Given the description of an element on the screen output the (x, y) to click on. 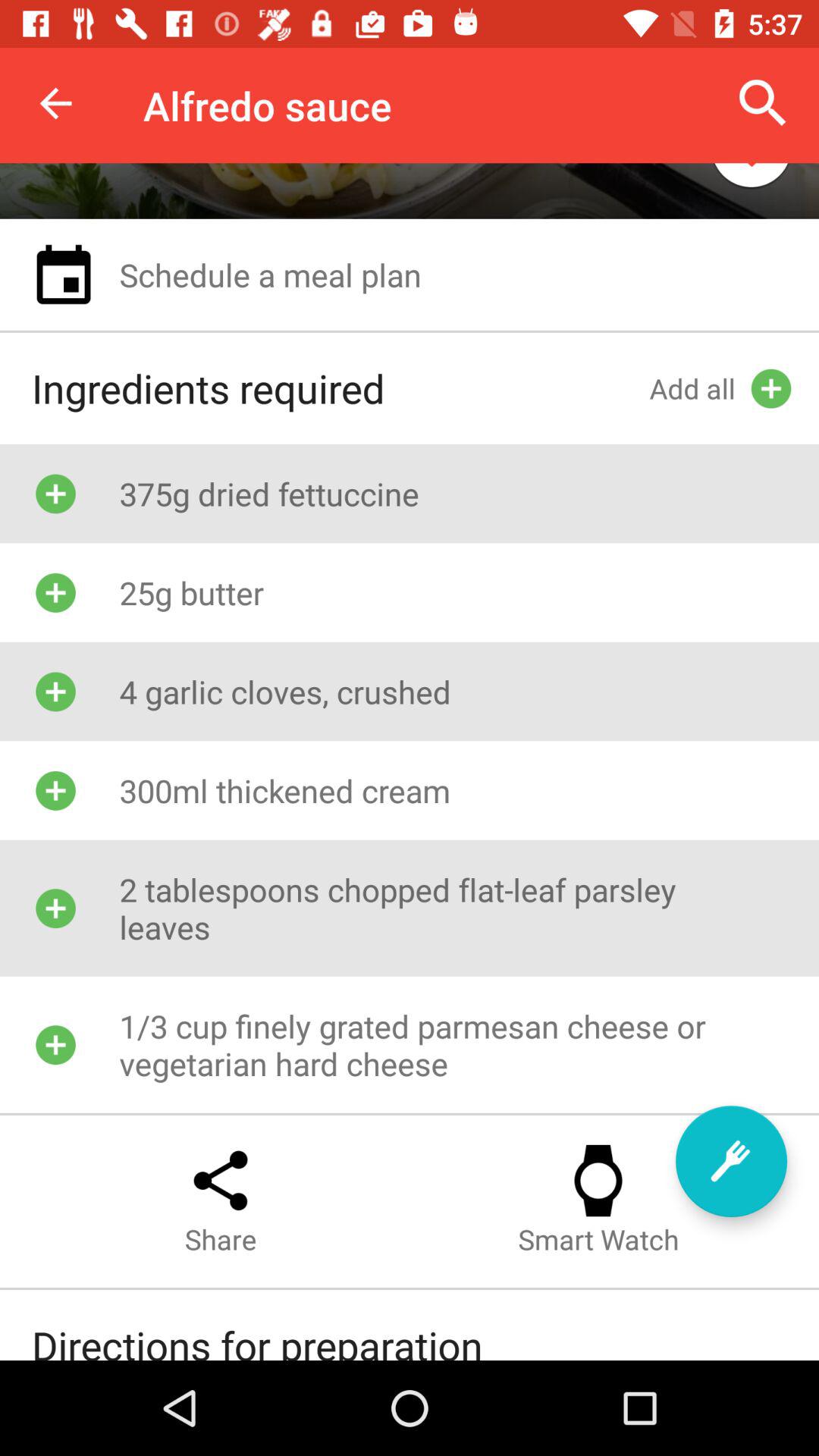
choose item next to alfredo sauce icon (763, 103)
